Given the description of an element on the screen output the (x, y) to click on. 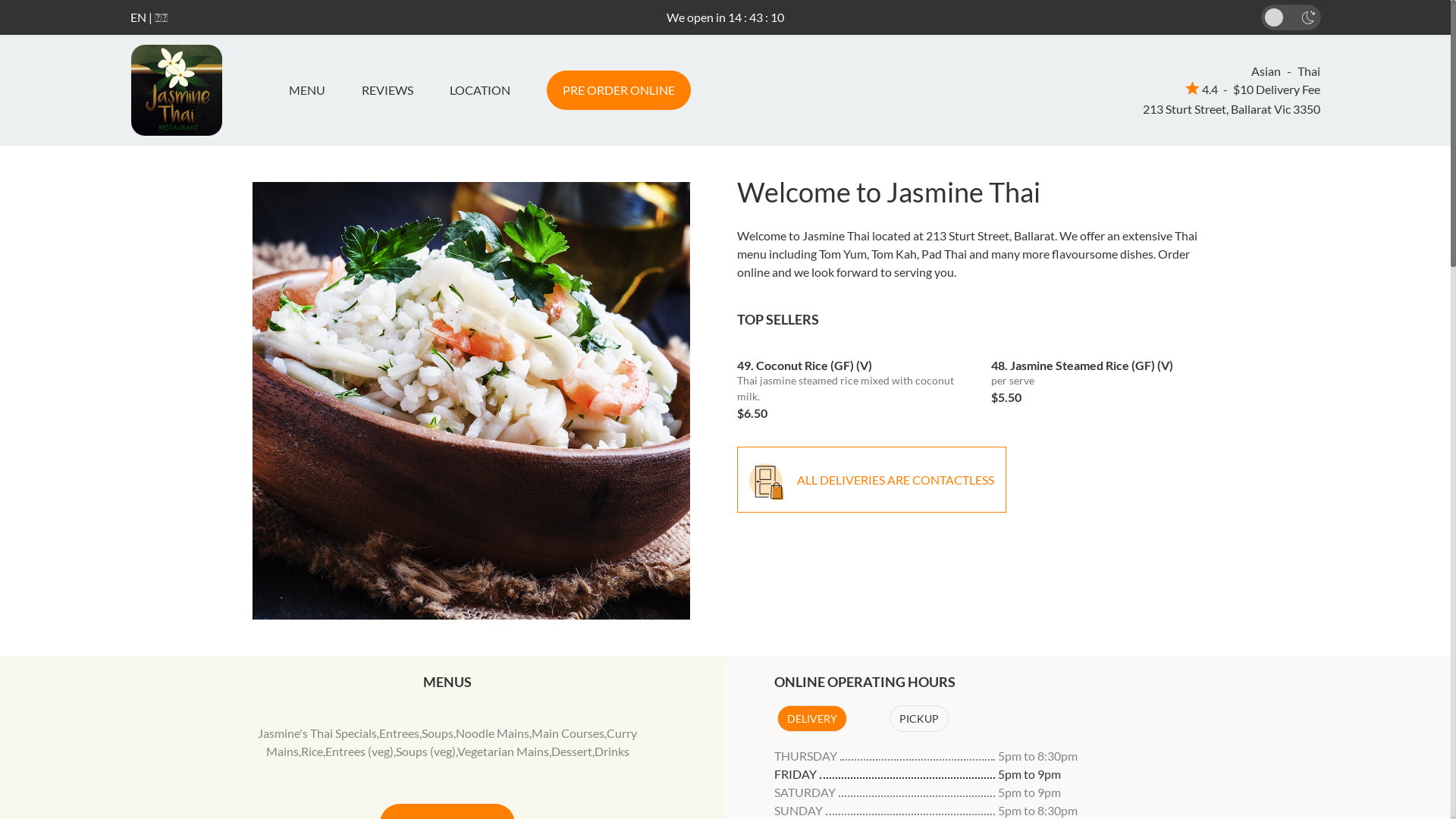
Jasmine's Thai Specials Element type: text (316, 732)
Entrees (veg) Element type: text (359, 750)
PRE ORDER ONLINE Element type: text (618, 89)
Drinks Element type: text (611, 750)
48. Jasmine Steamed Rice (GF) (V)
per serve
$5.50 Element type: text (1107, 376)
Curry Mains Element type: text (451, 741)
Soups Element type: text (437, 732)
REVIEWS Element type: text (386, 90)
4.4 Element type: text (1200, 88)
Noodle Mains Element type: text (492, 732)
Soups (veg) Element type: text (425, 750)
EN Element type: text (138, 16)
Rice Element type: text (312, 750)
DELIVERY Element type: text (811, 718)
MENU Element type: text (312, 90)
Entrees Element type: text (399, 732)
Main Courses Element type: text (567, 732)
PICKUP Element type: text (917, 718)
LOCATION Element type: text (478, 90)
Vegetarian Mains Element type: text (503, 750)
Dessert Element type: text (571, 750)
